Given the description of an element on the screen output the (x, y) to click on. 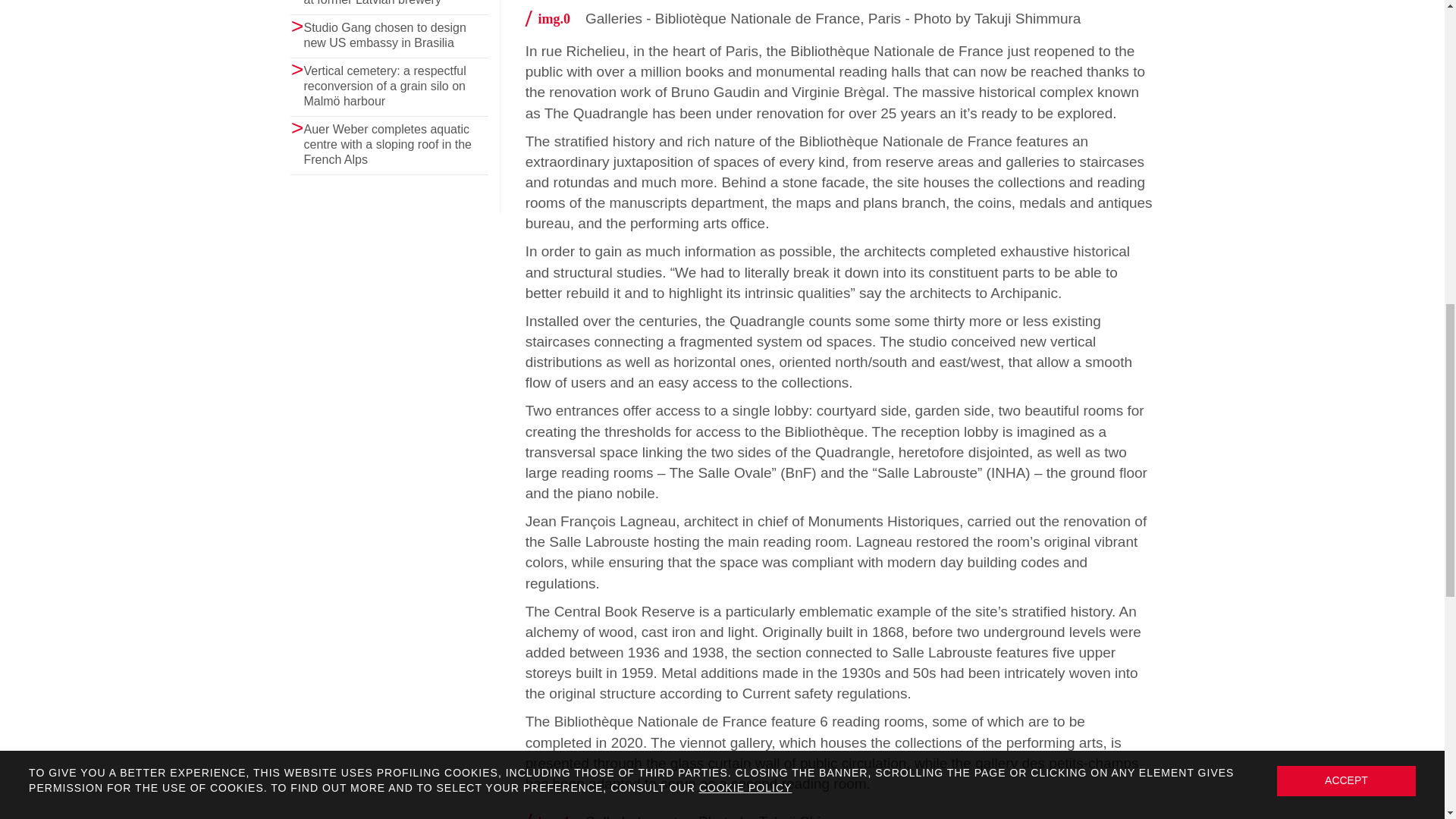
img.0 (555, 18)
img.1 (555, 816)
Studio Gang chosen to design new US embassy in Brasilia (383, 35)
